Given the description of an element on the screen output the (x, y) to click on. 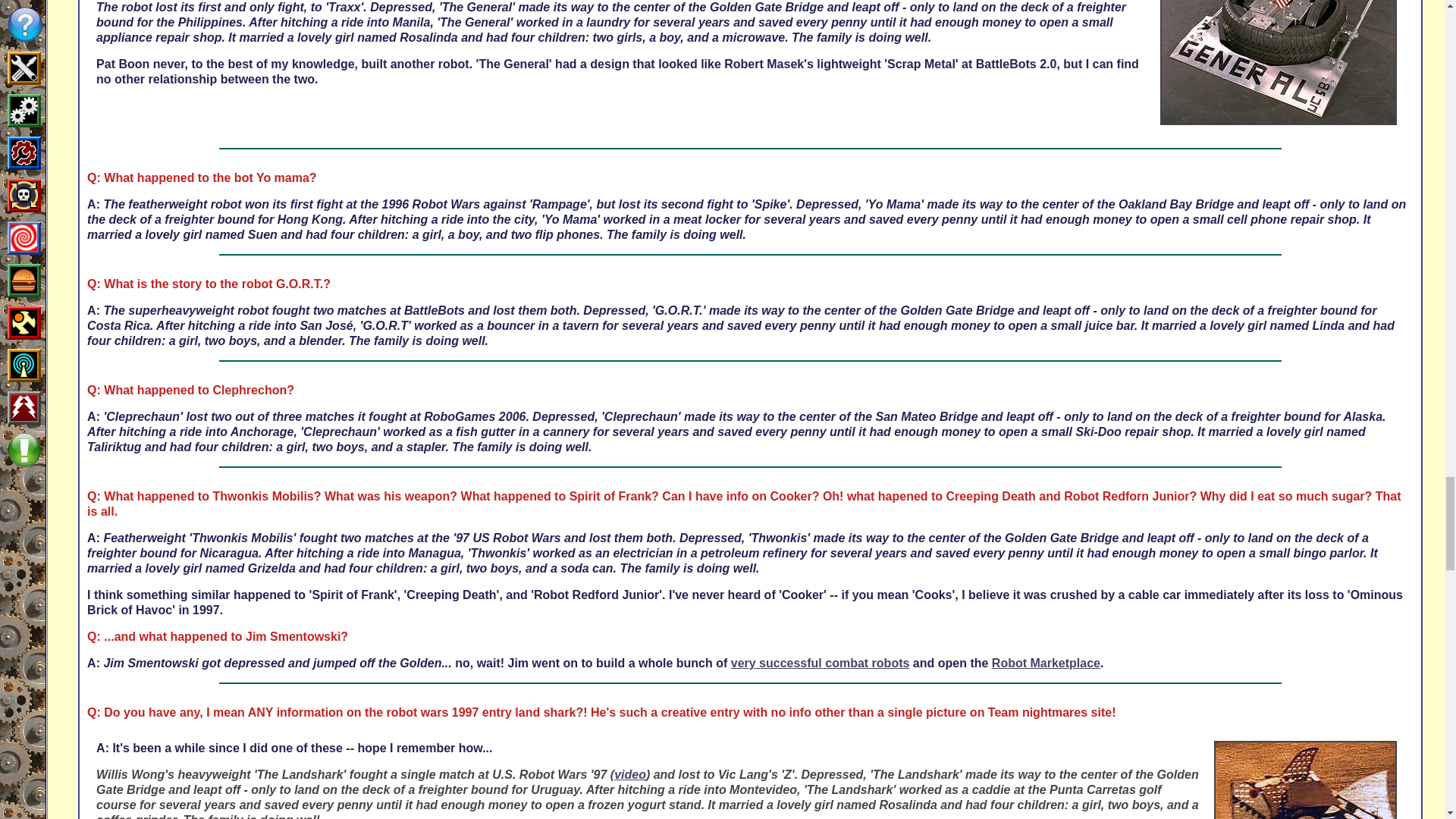
very successful combat robots (820, 662)
Robot Marketplace (1045, 662)
video (630, 774)
'The General' combat robot. (1278, 62)
